Given the description of an element on the screen output the (x, y) to click on. 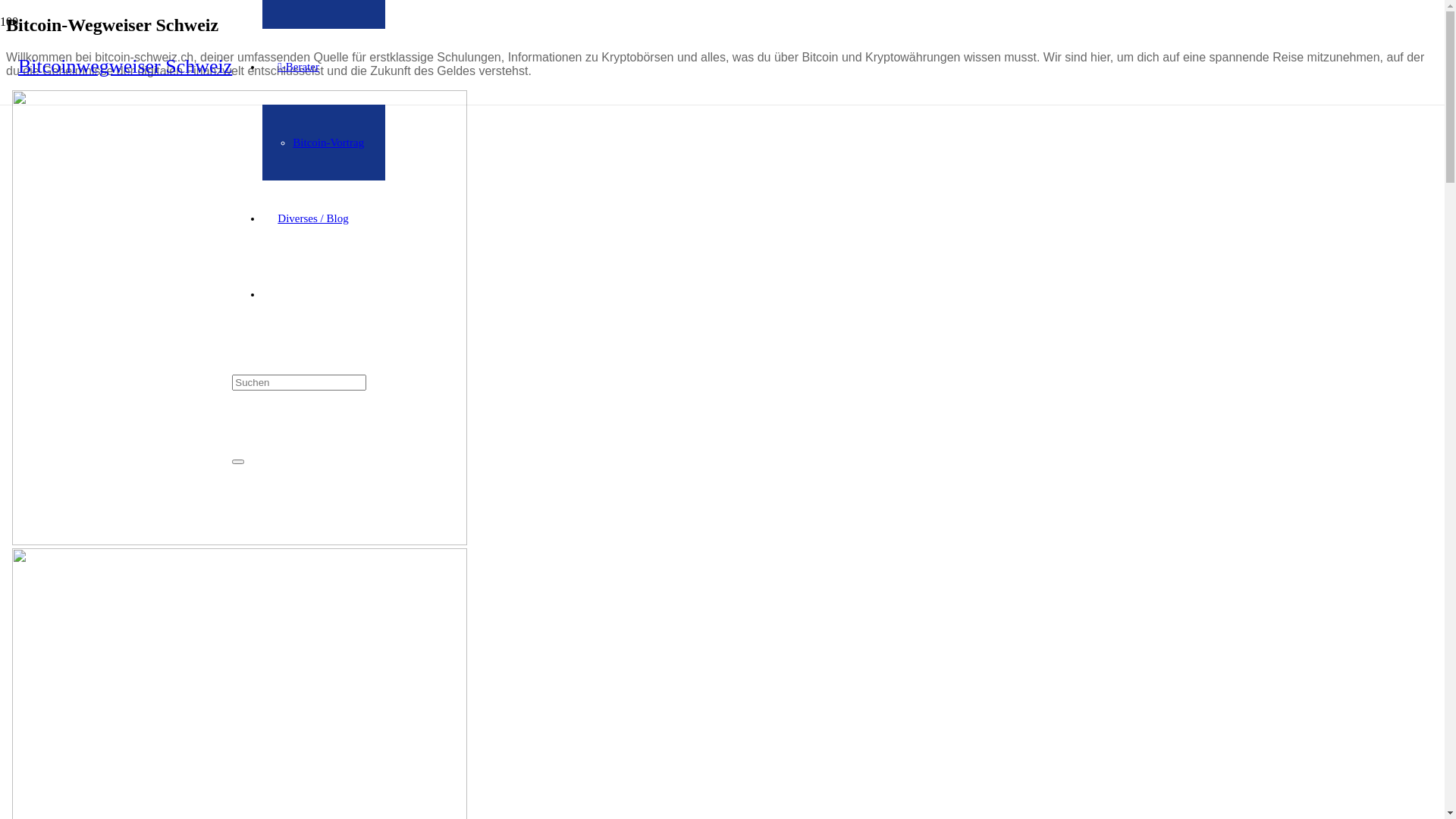
Bitcoinwegweiser Schweiz Element type: text (125, 66)
Bitcoin-Vortrag Element type: text (328, 142)
Diverses / Blog Element type: text (312, 218)
